Given the description of an element on the screen output the (x, y) to click on. 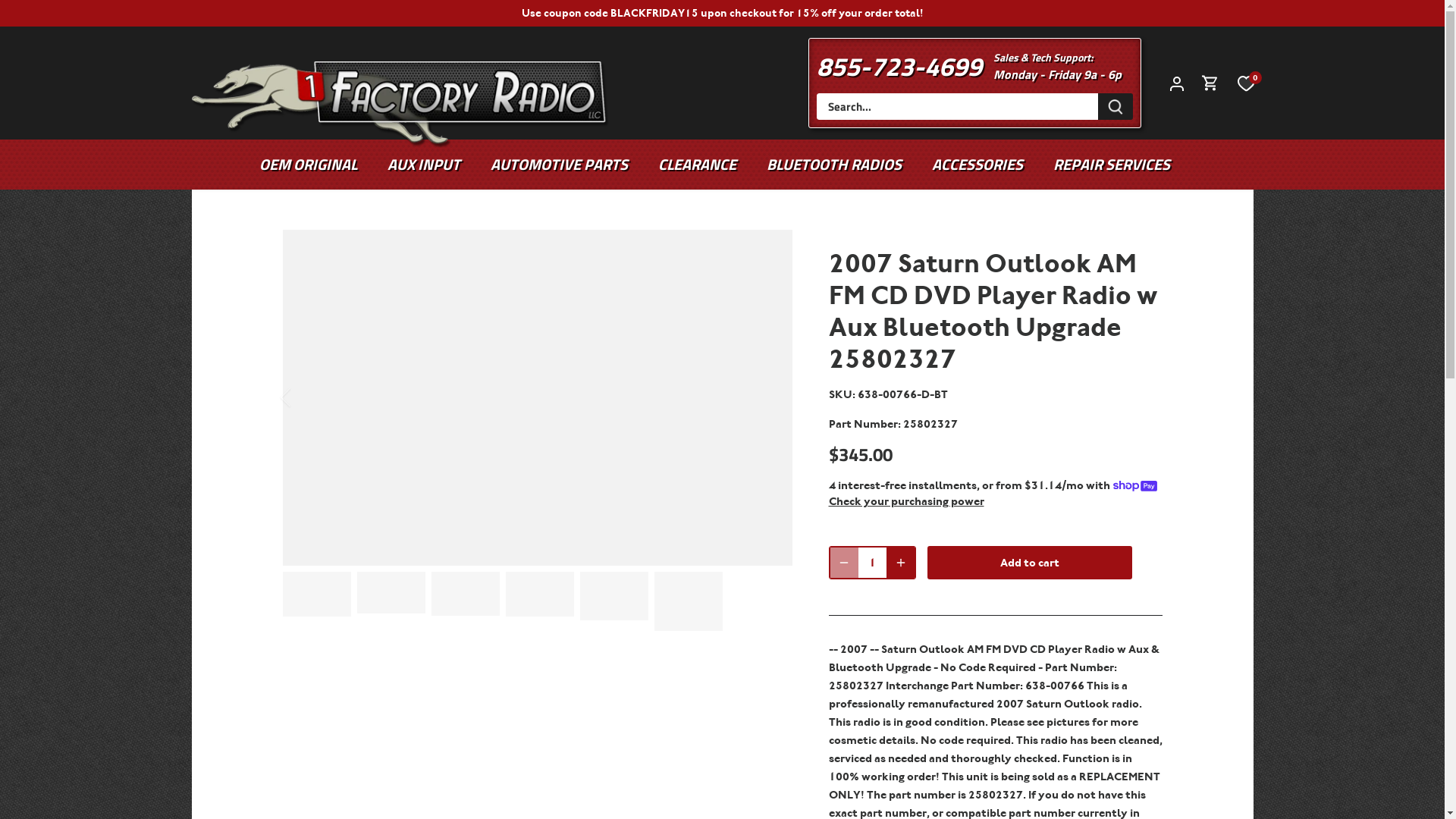
ACCESSORIES Element type: text (977, 164)
Go to cart Element type: hover (1210, 82)
0 Element type: text (1244, 83)
CLEARANCE Element type: text (697, 164)
AUTOMOTIVE PARTS Element type: text (559, 164)
855-723-4699 Element type: text (898, 65)
AUX INPUT Element type: text (423, 164)
REPAIR SERVICES Element type: text (1111, 164)
OEM ORIGINAL Element type: text (315, 164)
BLUETOOTH RADIOS Element type: text (833, 164)
Add to cart Element type: text (1028, 562)
